Given the description of an element on the screen output the (x, y) to click on. 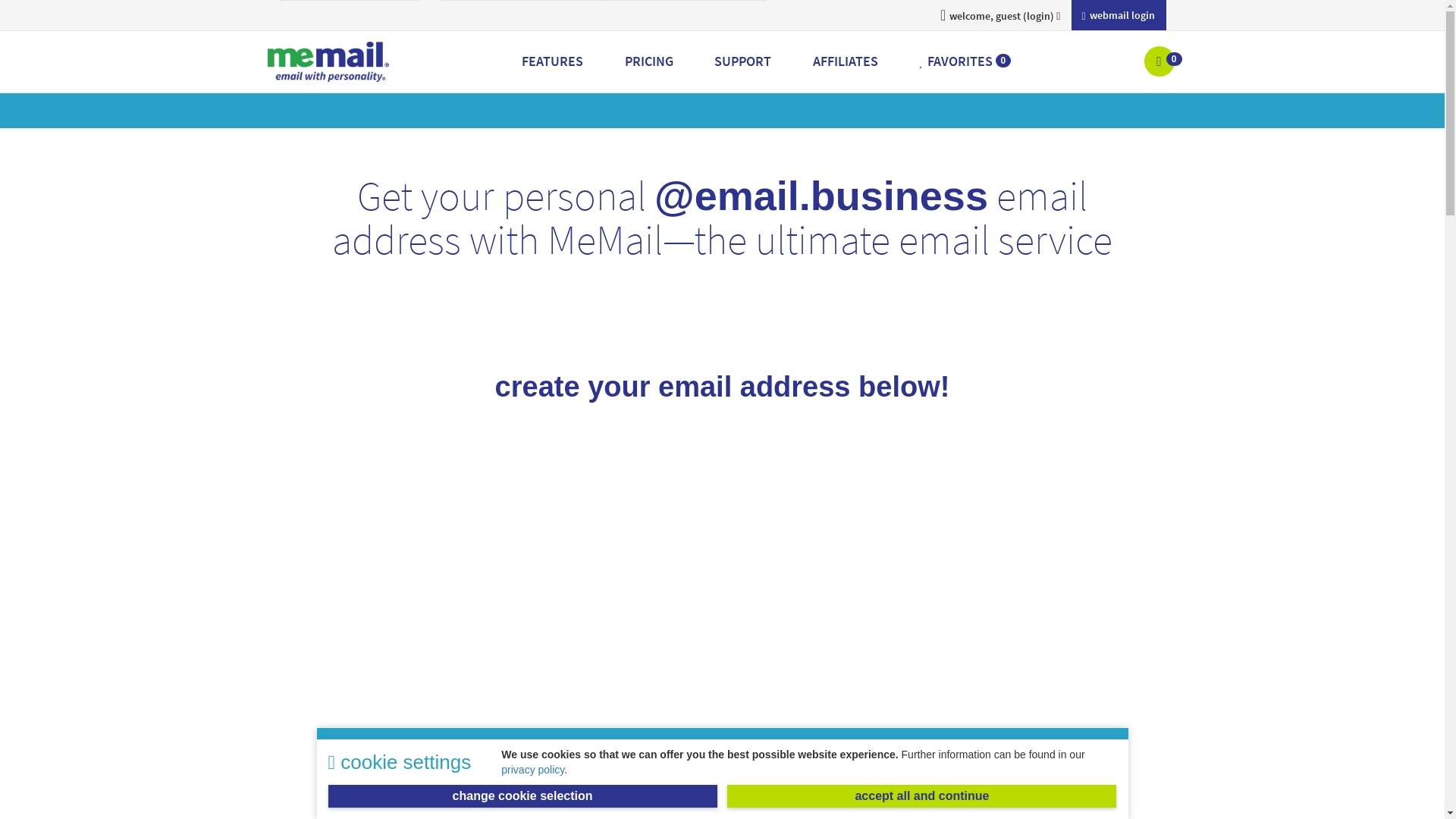
AFFILIATES Element type: text (845, 61)
 webmail login Element type: text (1118, 15)
SUPPORT Element type: text (742, 61)
FEATURES Element type: text (552, 61)
welcome, guest (login) Element type: text (999, 15)
 FAVORITES 0 Element type: text (964, 61)
accept all and continue Element type: text (921, 795)
change cookie selection Element type: text (522, 795)
  0 Element type: text (1160, 62)
PRICING Element type: text (648, 61)
privacy policy Element type: text (532, 769)
